Given the description of an element on the screen output the (x, y) to click on. 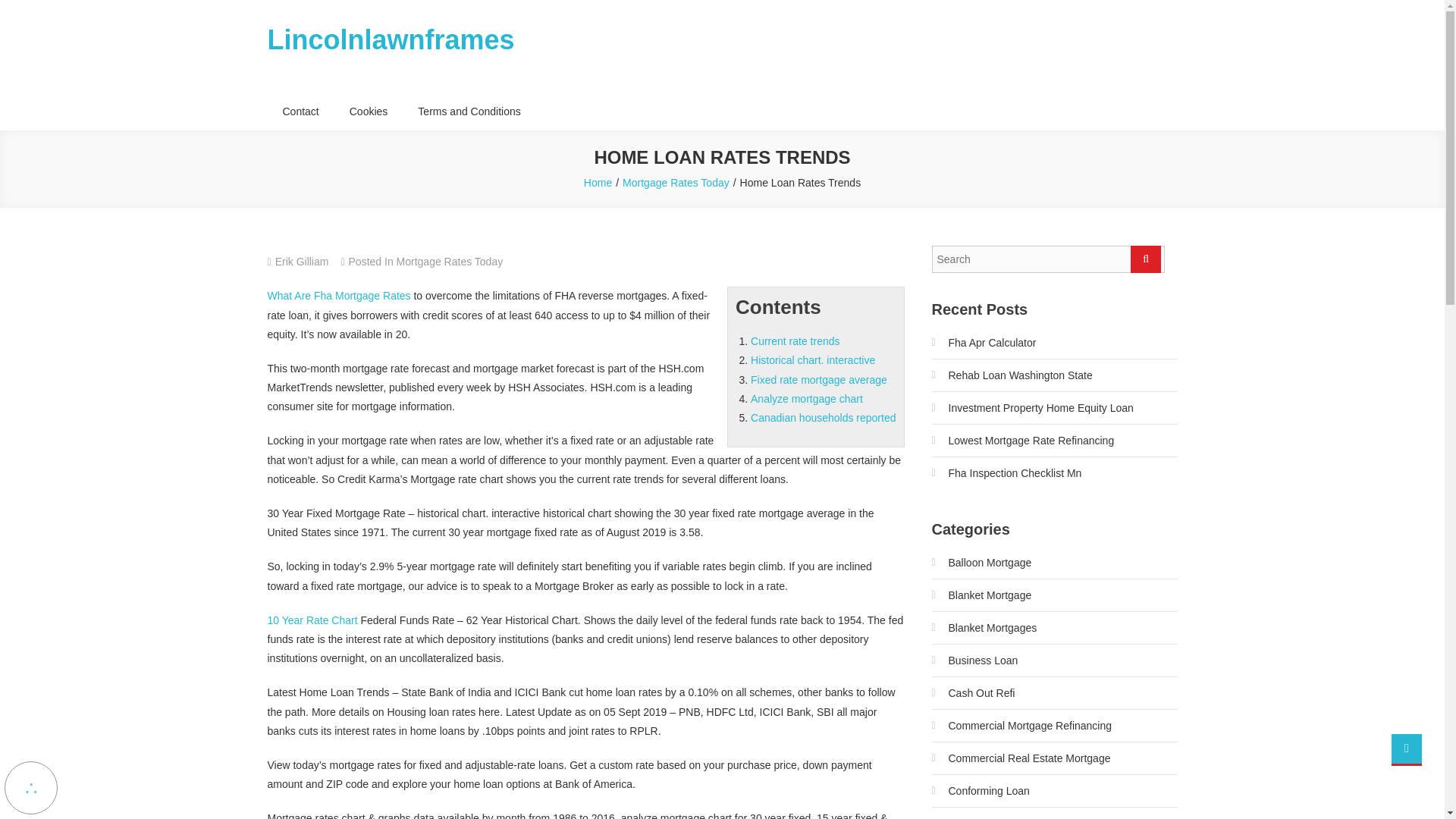
Commercial Mortgage Refinancing (1021, 725)
What Are Fha Mortgage Rates (338, 295)
Historical chart. interactive (813, 359)
Terms and Conditions (469, 111)
Search (1145, 258)
Conforming Loan (980, 790)
Fixed rate mortgage average (818, 379)
Commercial Real Estate Mortgage (1020, 758)
Cookies (368, 111)
Conforming Mortgage (990, 815)
Mortgage Rates Today (449, 261)
Lincolnlawnframes (389, 39)
Contact (299, 111)
Investment Property Home Equity Loan (1031, 407)
Home (597, 182)
